Given the description of an element on the screen output the (x, y) to click on. 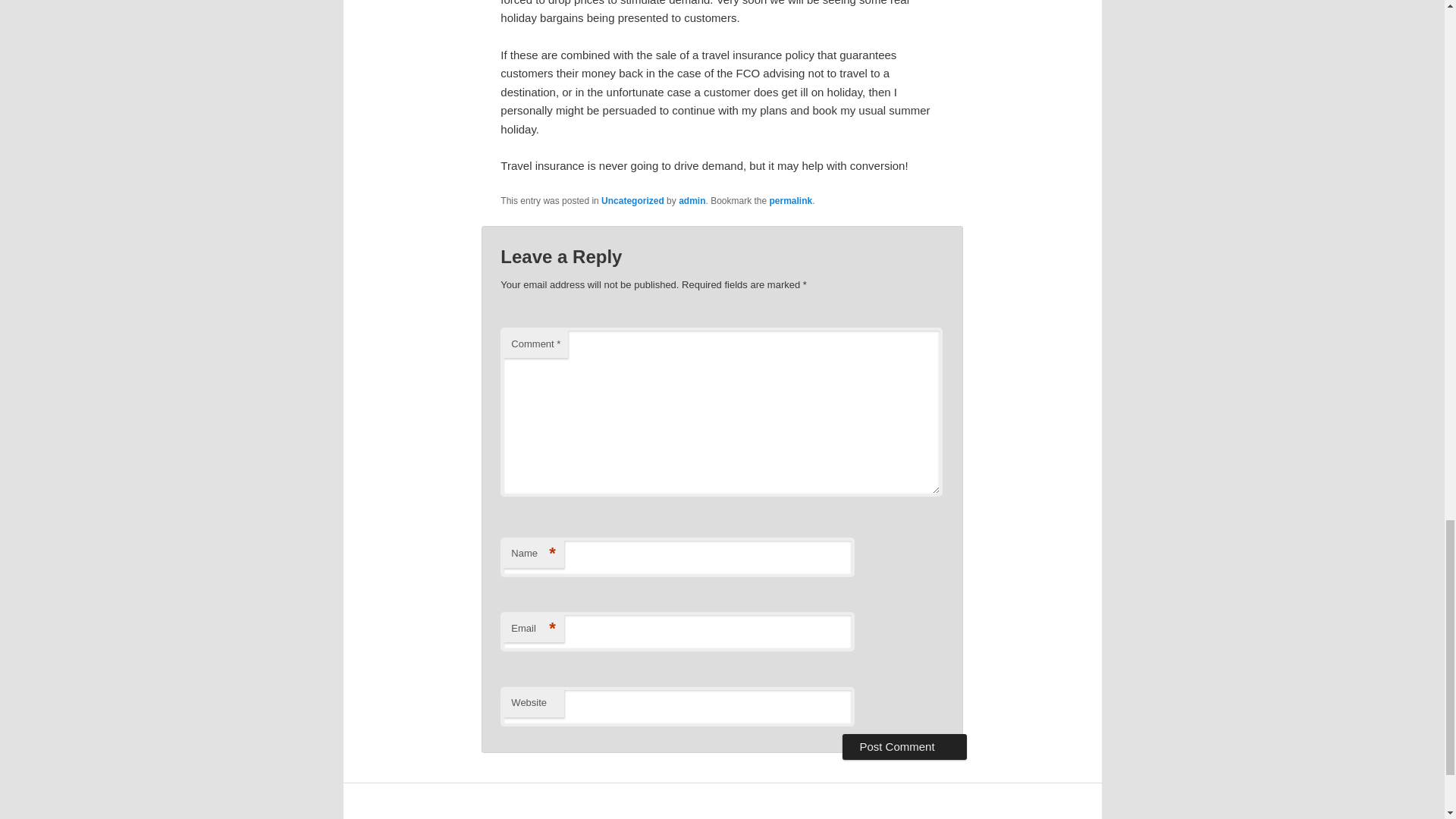
permalink (791, 200)
Post Comment (904, 746)
Uncategorized (632, 200)
admin (691, 200)
Post Comment (904, 746)
